Given the description of an element on the screen output the (x, y) to click on. 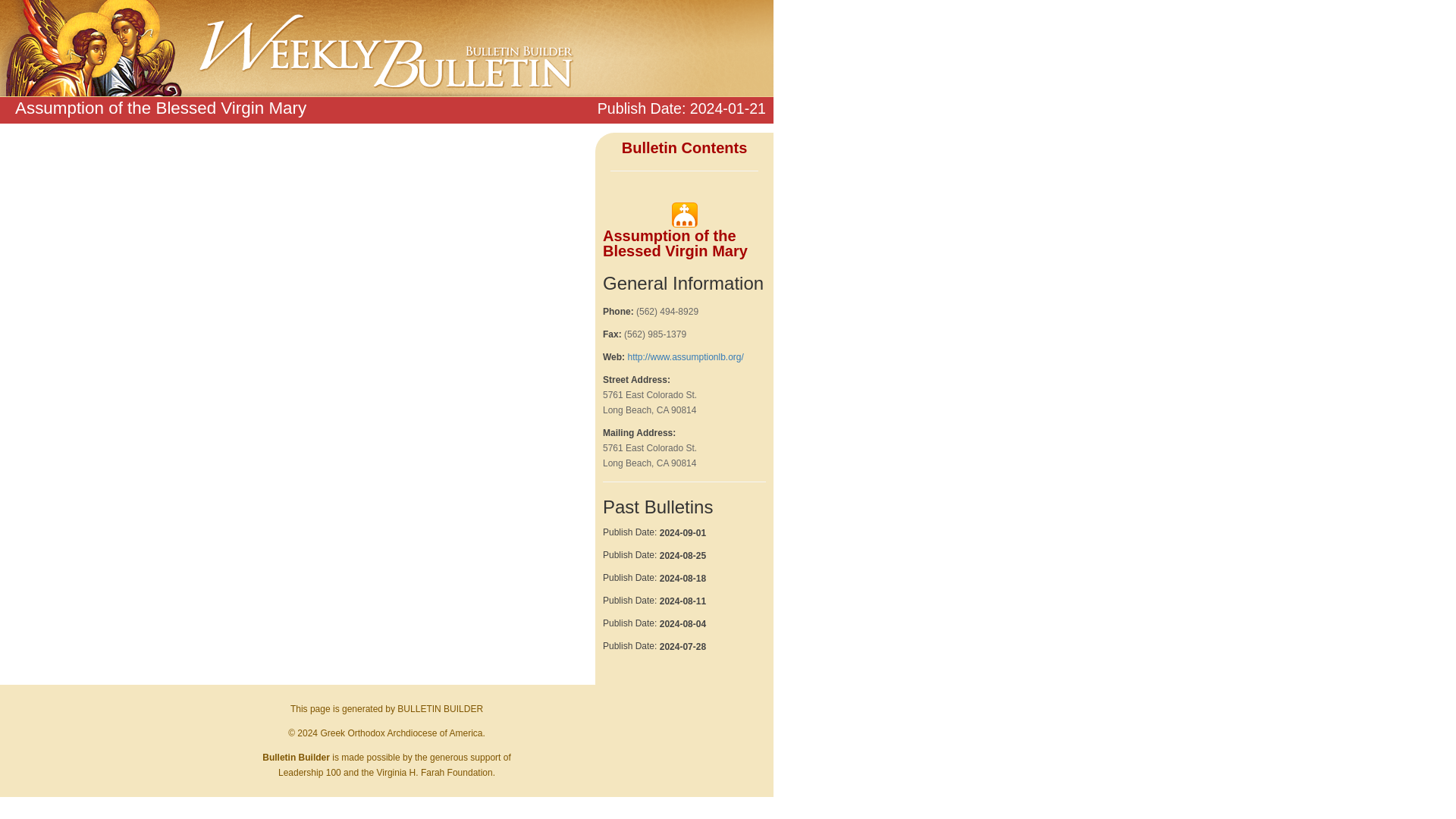
Greek Orthodox Archdiocese of America. (402, 733)
Leadership 100 (309, 772)
2024-09-01 (682, 532)
organization (683, 214)
2024-08-04 (682, 624)
Virginia H. Farah Foundation. (435, 772)
2024-08-18 (682, 578)
2024-07-28 (682, 646)
2024-08-25 (682, 555)
2024-08-11 (682, 601)
